Given the description of an element on the screen output the (x, y) to click on. 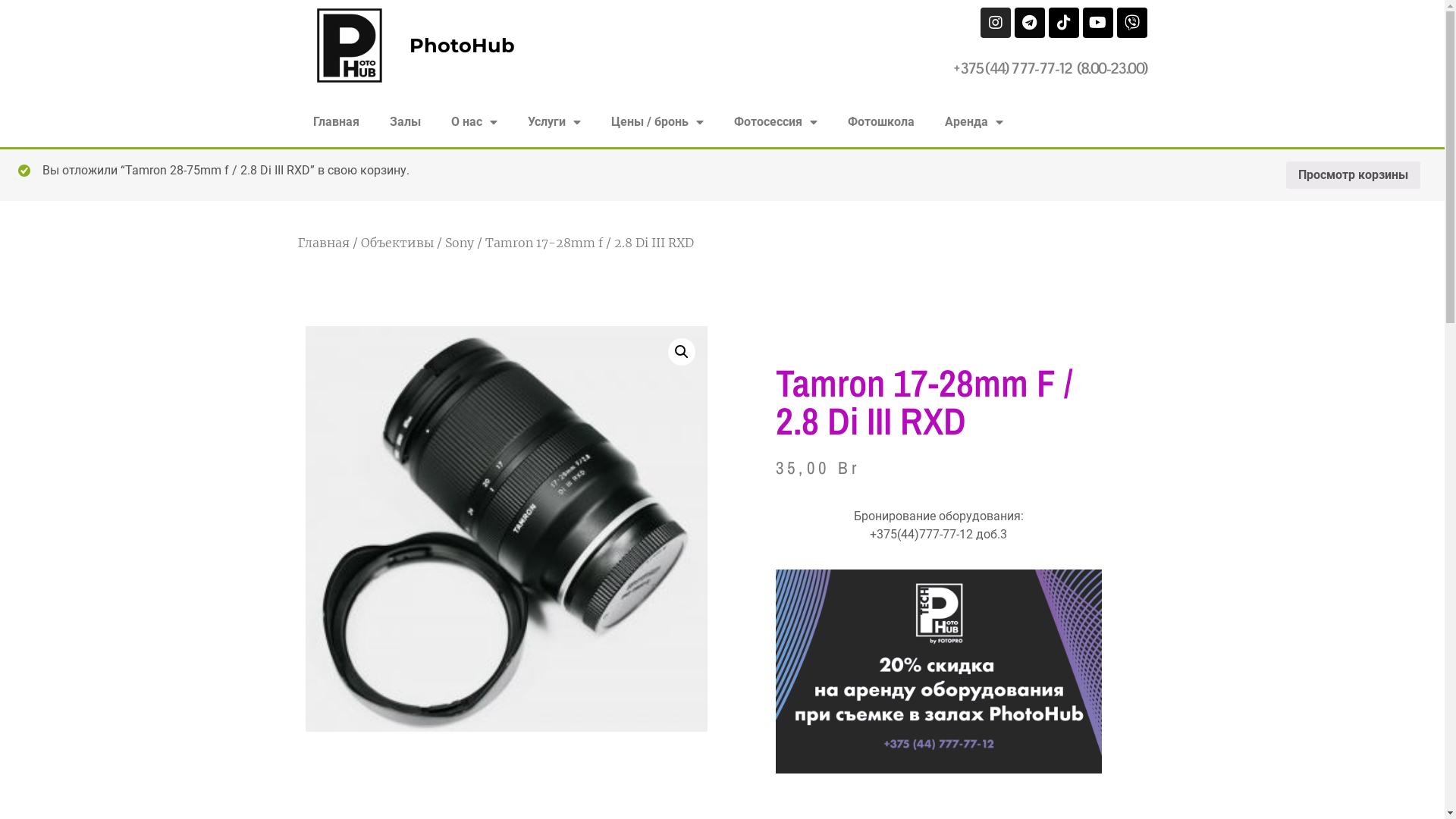
ec9e5d4418cddeb916f54861fa51abb5_L Element type: hover (505, 528)
PhotoHub Element type: text (461, 44)
Sony Element type: text (458, 242)
+375 (44) 777-77-12 Element type: text (1012, 68)
